Given the description of an element on the screen output the (x, y) to click on. 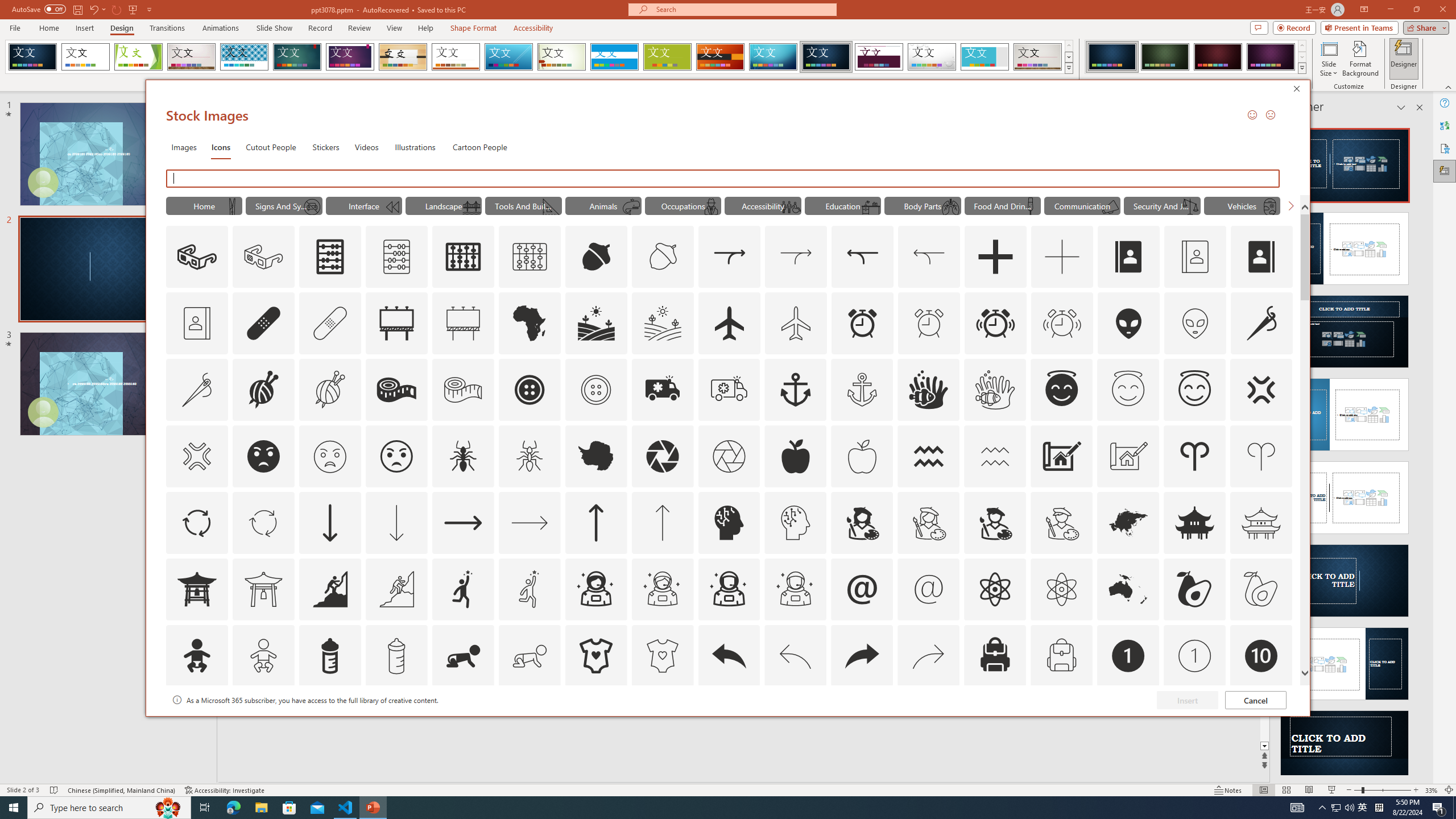
AutomationID: Icons_AnemoneAndClownfish_M (995, 389)
AutomationID: Icons_Avocado_M (1260, 588)
"Education" Icons. (842, 205)
AutomationID: Icons_Advertising (397, 323)
AutomationID: Icons_Whale_M (631, 206)
AutomationID: Icons_Australia (1128, 588)
AutomationID: Icons_Desk_M (870, 206)
AutomationID: Icons_BabyCrawling (462, 655)
AutomationID: Icons_Badge6_M (861, 721)
